Given the description of an element on the screen output the (x, y) to click on. 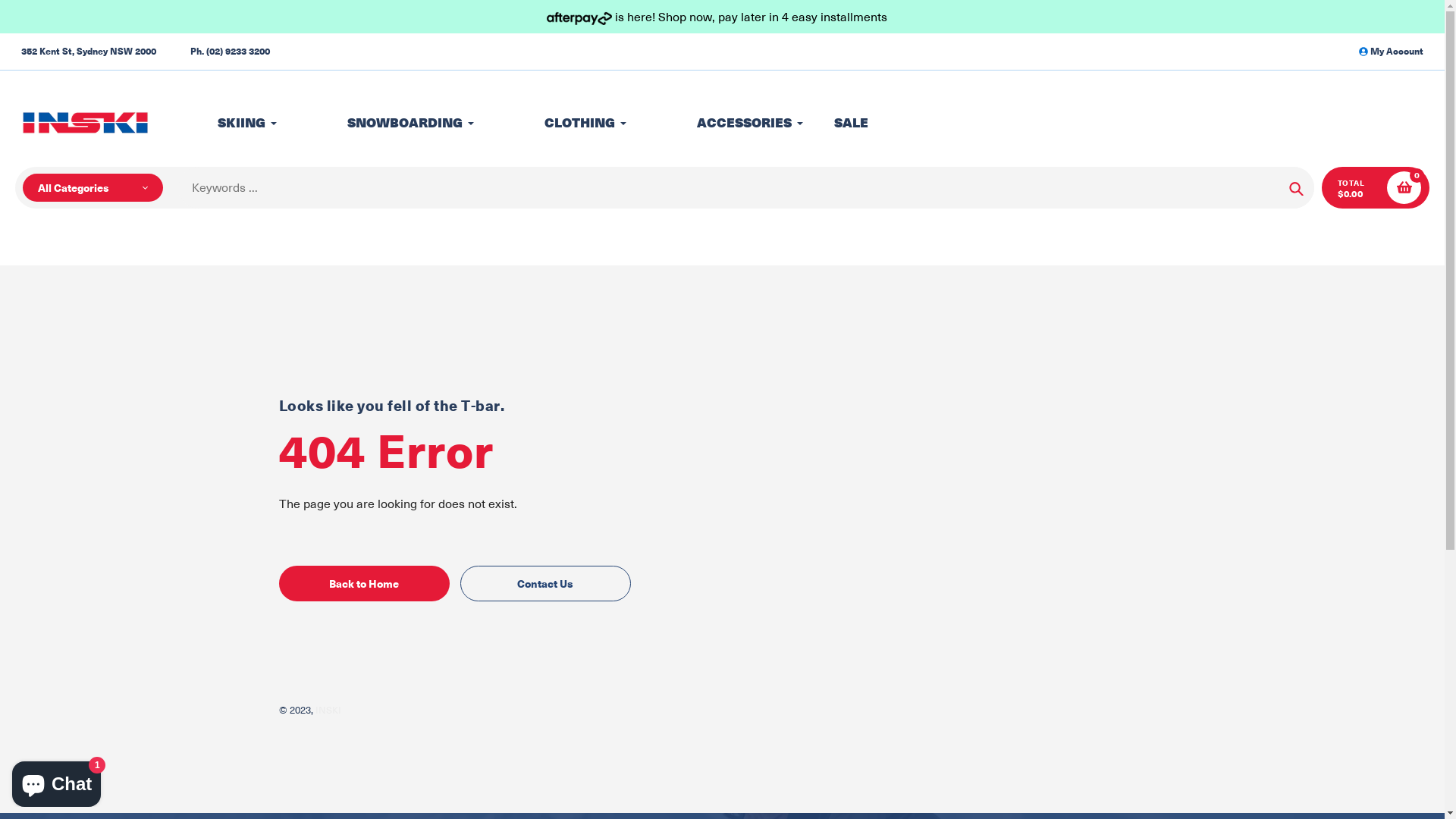
My Account Element type: text (1390, 51)
Contact Us Element type: text (544, 583)
Search Element type: text (1296, 187)
             CLOTHING Element type: text (566, 122)
SALE Element type: text (851, 122)
0 Element type: text (1403, 187)
             SNOWBOARDING Element type: text (391, 122)
Shopify online store chat Element type: hover (56, 780)
             SKIING Element type: text (228, 122)
Back to Home Element type: text (364, 583)
All Categories Element type: text (92, 187)
             ACCESSORIES Element type: text (730, 122)
Ph. (02) 9233 3200 Element type: text (230, 51)
INSKI Element type: text (328, 709)
